Given the description of an element on the screen output the (x, y) to click on. 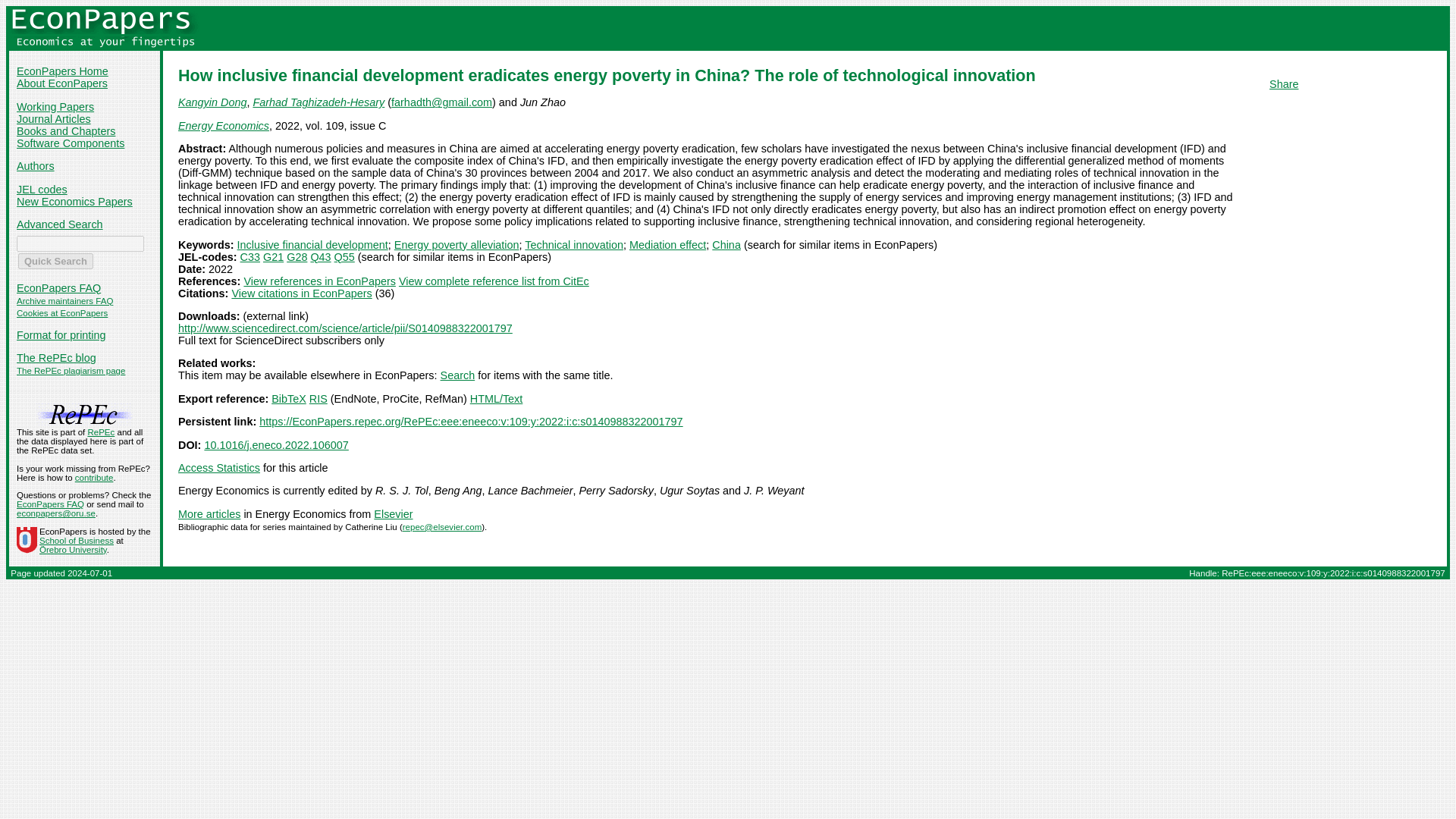
The RePEc plagiarism page (70, 370)
China (726, 244)
EconPapers FAQ (58, 287)
Energy poverty alleviation (456, 244)
Kangyin Dong (211, 102)
Archive maintainers FAQ (64, 300)
C33 (250, 256)
Mediation effect (667, 244)
New Economics Papers (74, 201)
Quick Search (55, 261)
View references in EconPapers (319, 281)
Authors (35, 165)
JEL codes (41, 189)
Books and Chapters (65, 131)
Search (458, 375)
